Given the description of an element on the screen output the (x, y) to click on. 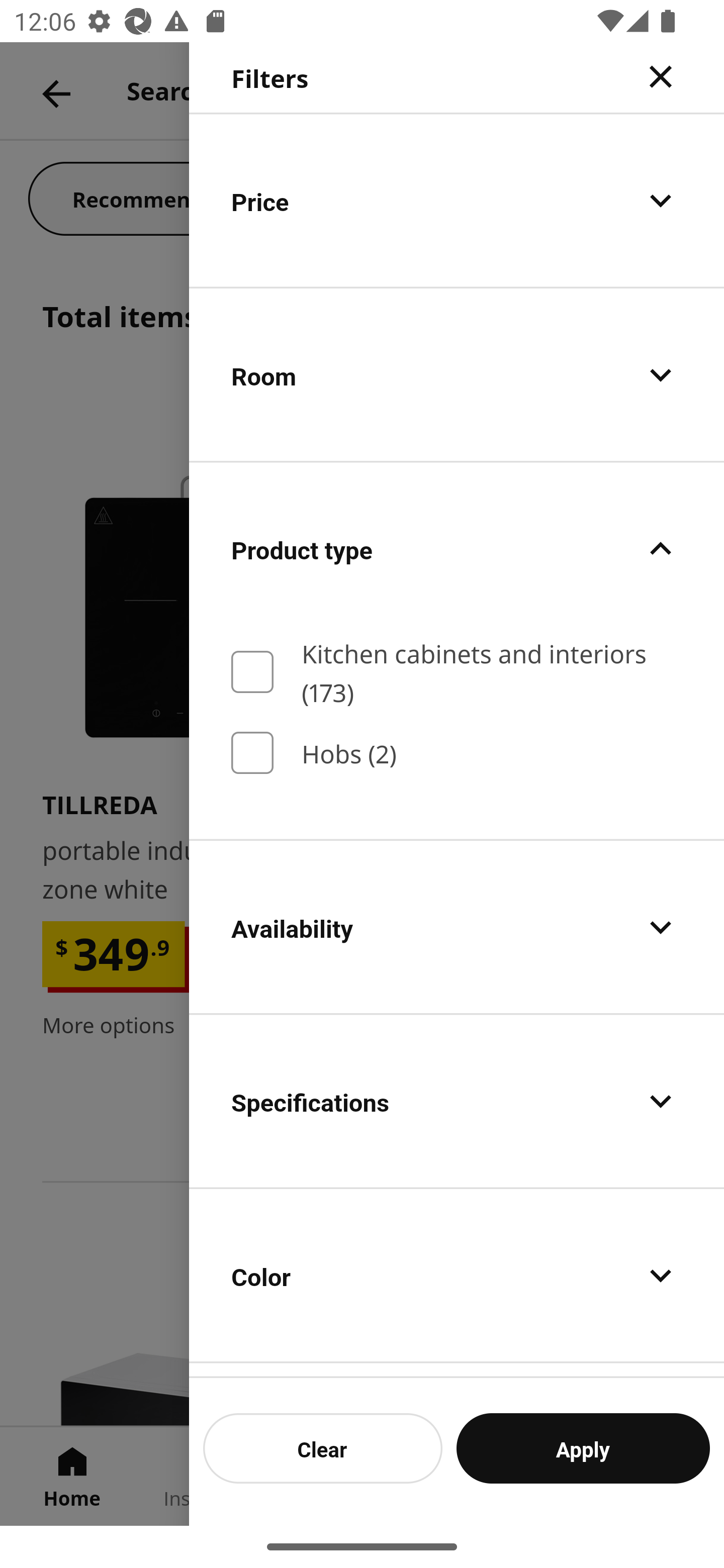
Price (456, 200)
Room (456, 374)
Product type (456, 548)
Kitchen cabinets and interiors (173) (456, 671)
Hobs (2) (456, 753)
Availability (456, 927)
Specifications (456, 1100)
Color (456, 1275)
Clear (322, 1447)
Apply (583, 1447)
